Given the description of an element on the screen output the (x, y) to click on. 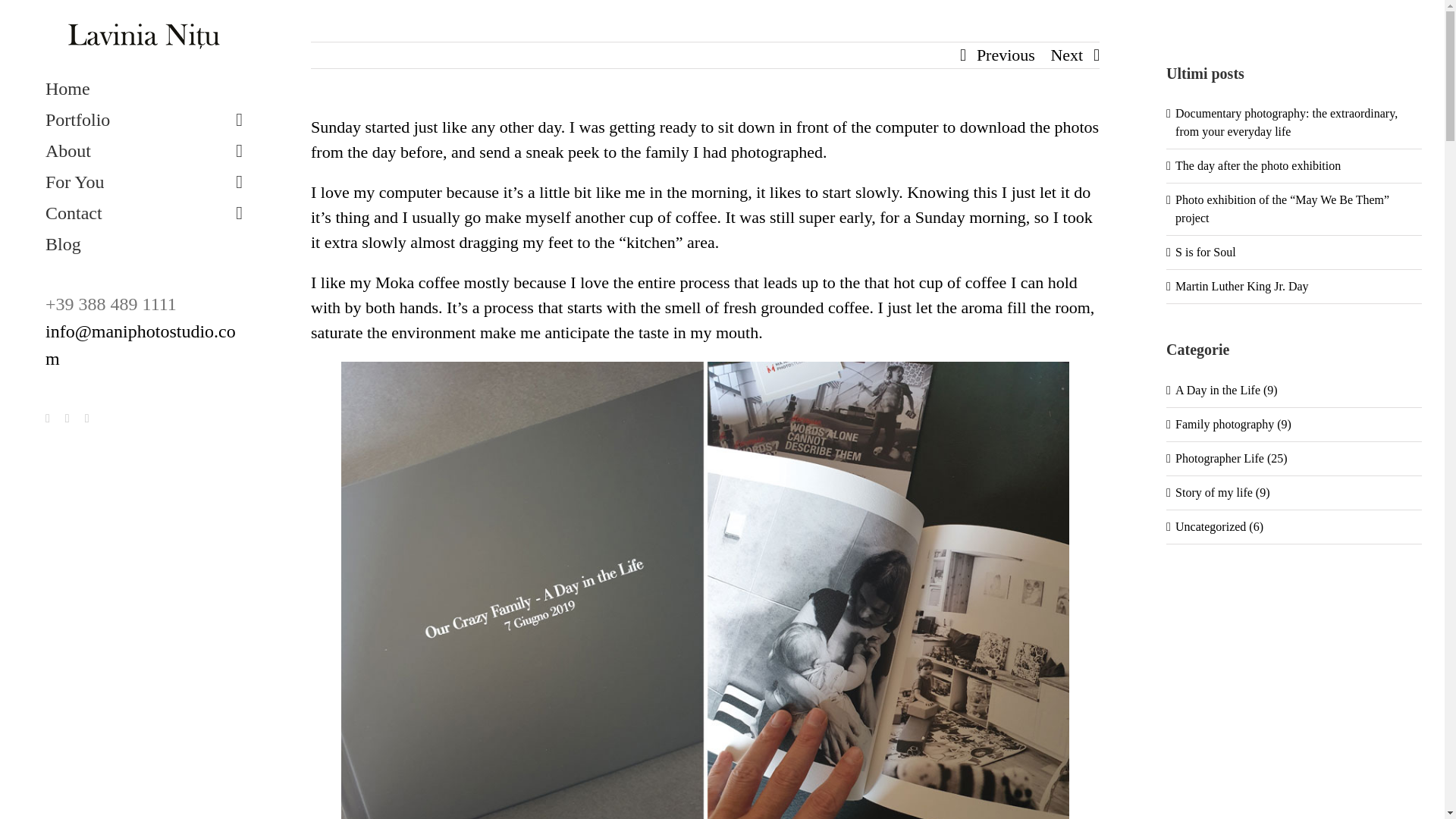
Blog (144, 244)
Next (1066, 54)
Contact (144, 213)
Previous (1005, 54)
Home (144, 88)
Portfolio (144, 119)
For You (144, 182)
About (144, 151)
